Given the description of an element on the screen output the (x, y) to click on. 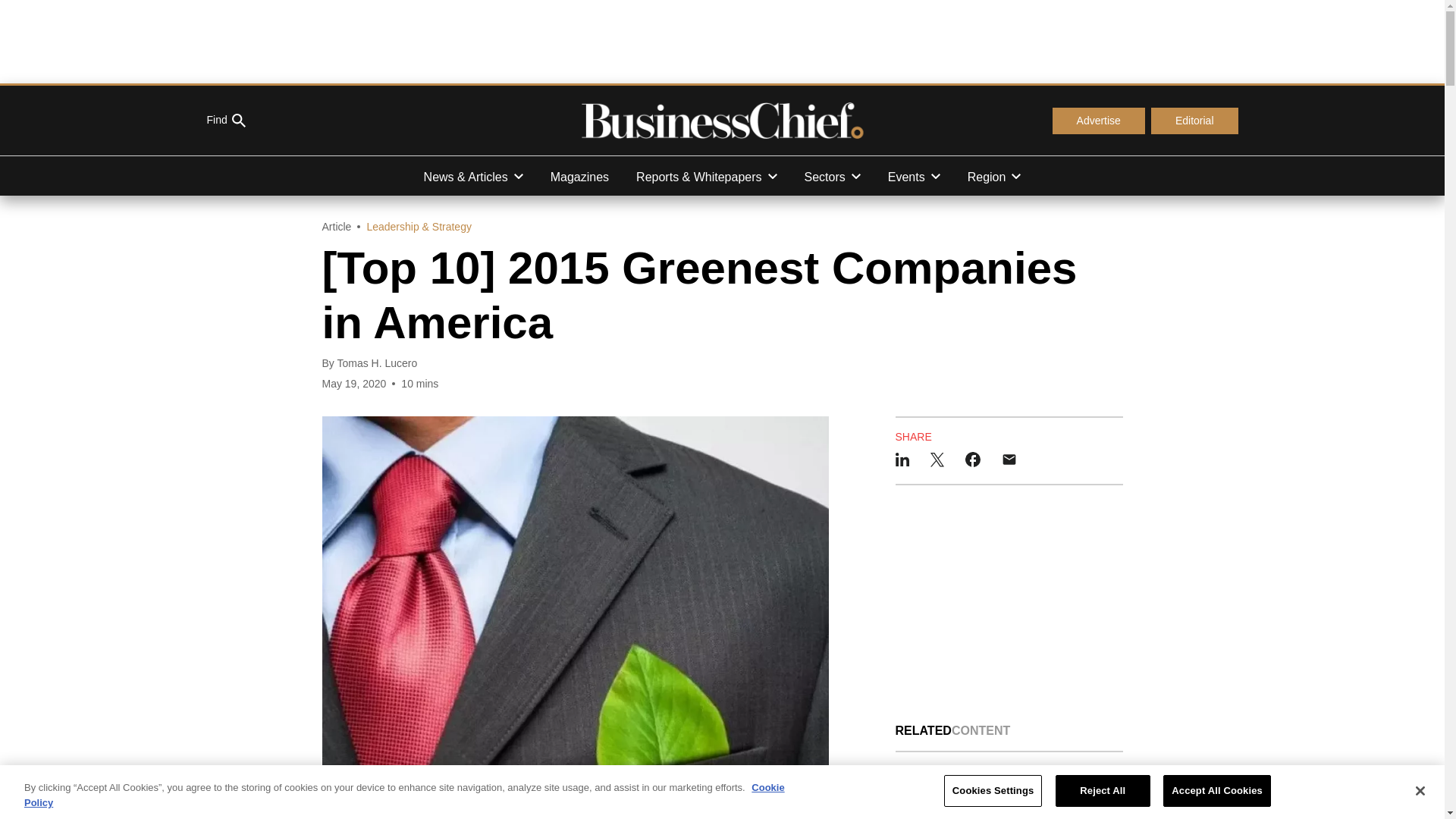
Advertise (1098, 121)
3rd party ad content (1008, 604)
Find (225, 120)
Editorial (1195, 121)
Sectors (832, 175)
Events (914, 175)
3rd party ad content (721, 41)
Magazines (580, 175)
Region (994, 175)
